Given the description of an element on the screen output the (x, y) to click on. 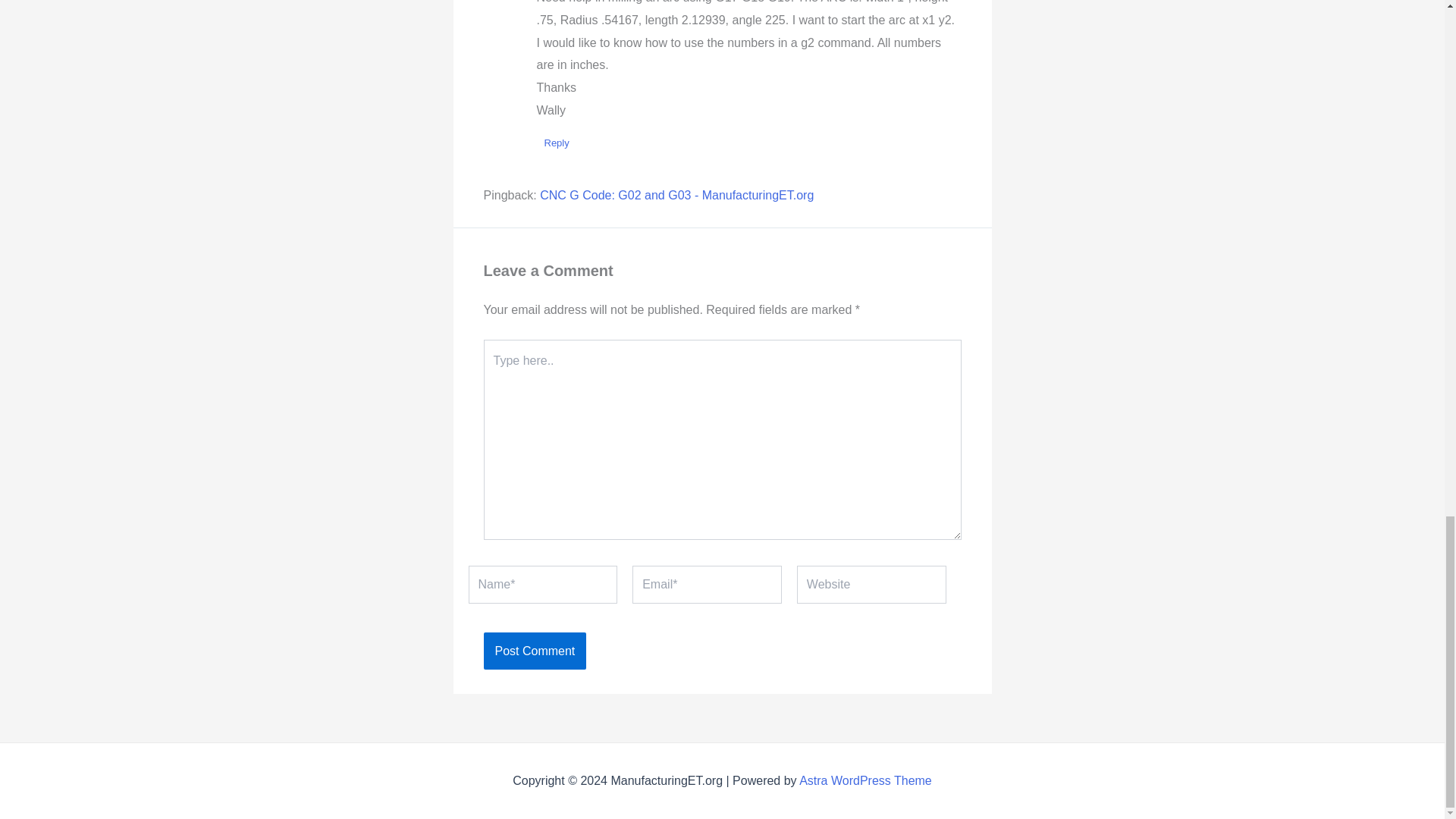
Post Comment (534, 651)
